Given the description of an element on the screen output the (x, y) to click on. 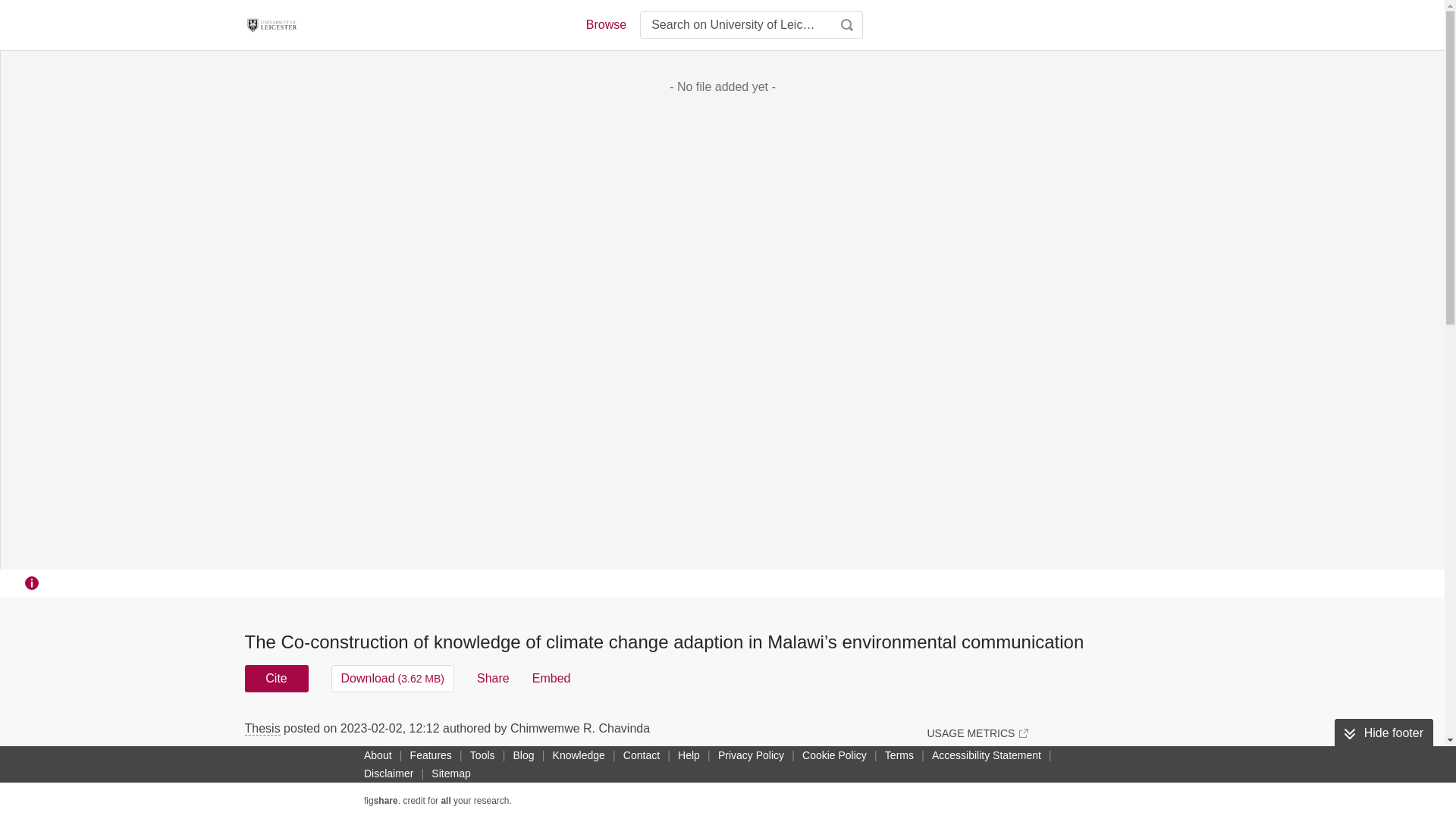
Help (688, 755)
Browse (605, 24)
Embed (551, 678)
Cookie Policy (833, 755)
Share (493, 678)
Knowledge (579, 755)
Hide footer (1383, 733)
Terms (899, 755)
Accessibility Statement (986, 755)
Tools (482, 755)
Blog (523, 755)
USAGE METRICS (976, 732)
About (377, 755)
Contact (640, 755)
Privacy Policy (751, 755)
